Given the description of an element on the screen output the (x, y) to click on. 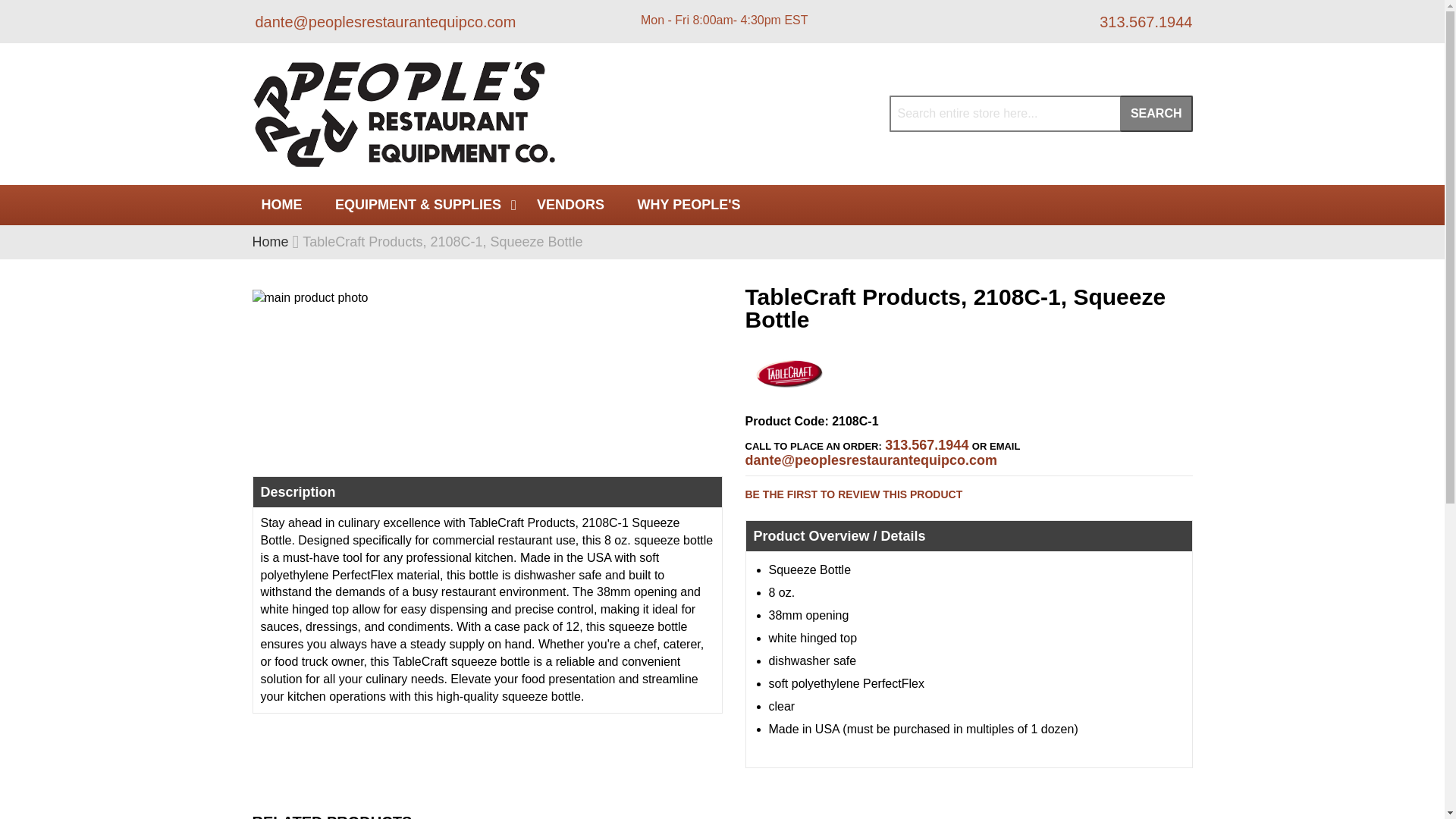
Search (1155, 113)
Go to Home Page (269, 241)
People's Restaurant Equipment Co (402, 113)
TableCraft Products (789, 394)
HOME (281, 205)
SEARCH (1155, 113)
313.567.1944 (1144, 21)
